Given the description of an element on the screen output the (x, y) to click on. 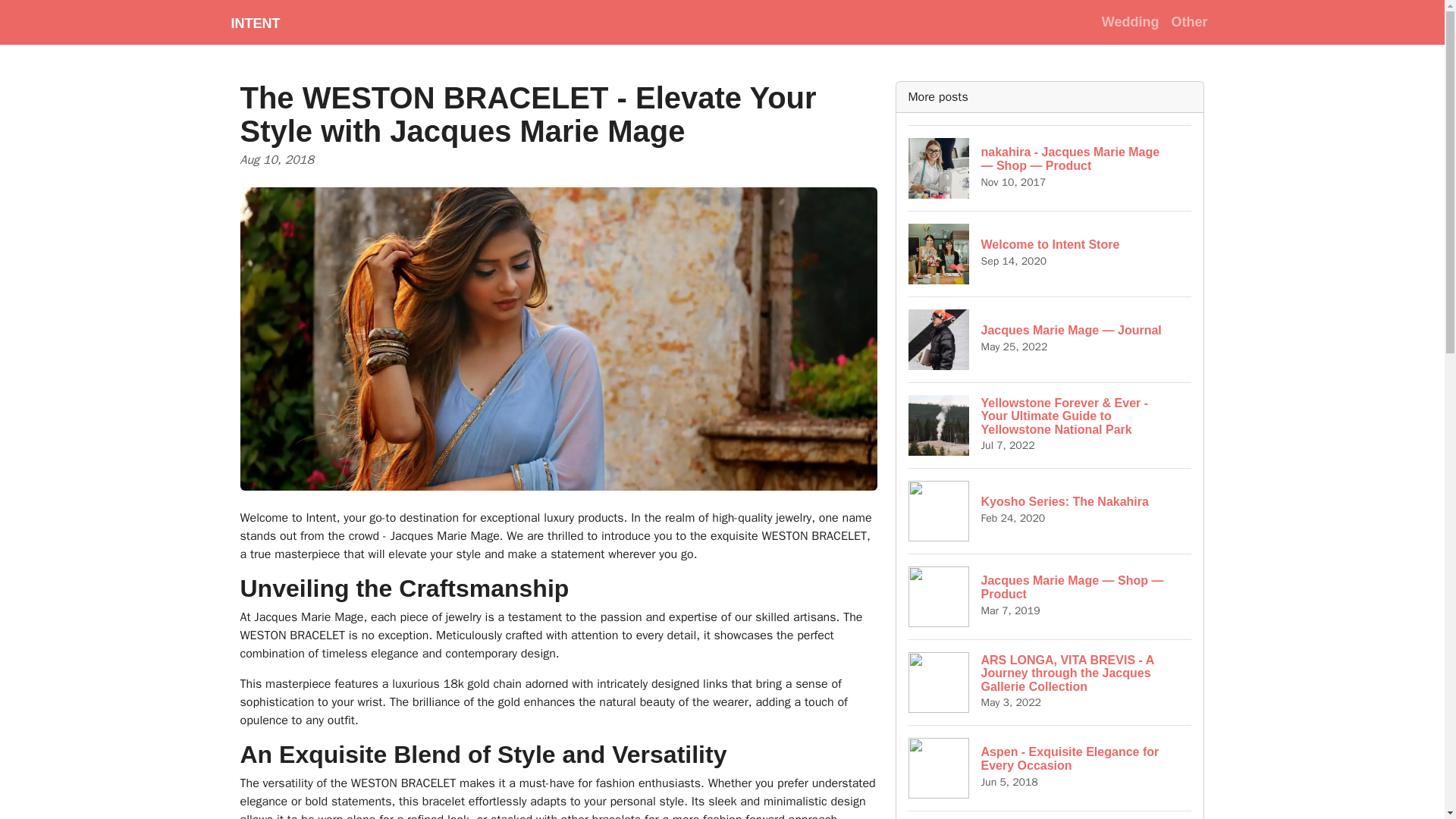
Wedding (1131, 21)
Other (1050, 767)
INTENT (1188, 21)
